Given the description of an element on the screen output the (x, y) to click on. 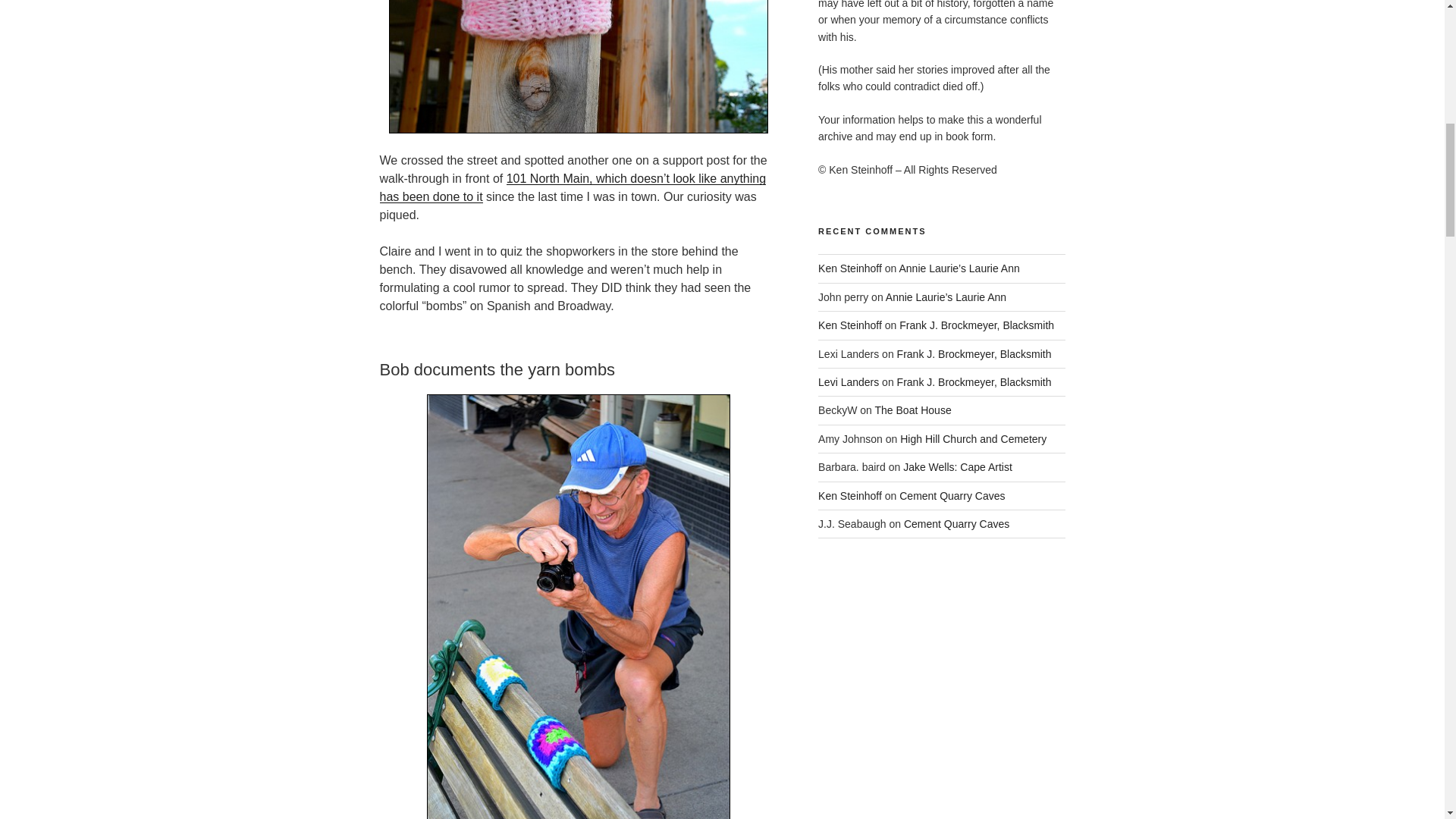
101 North Main Street building (571, 187)
